Given the description of an element on the screen output the (x, y) to click on. 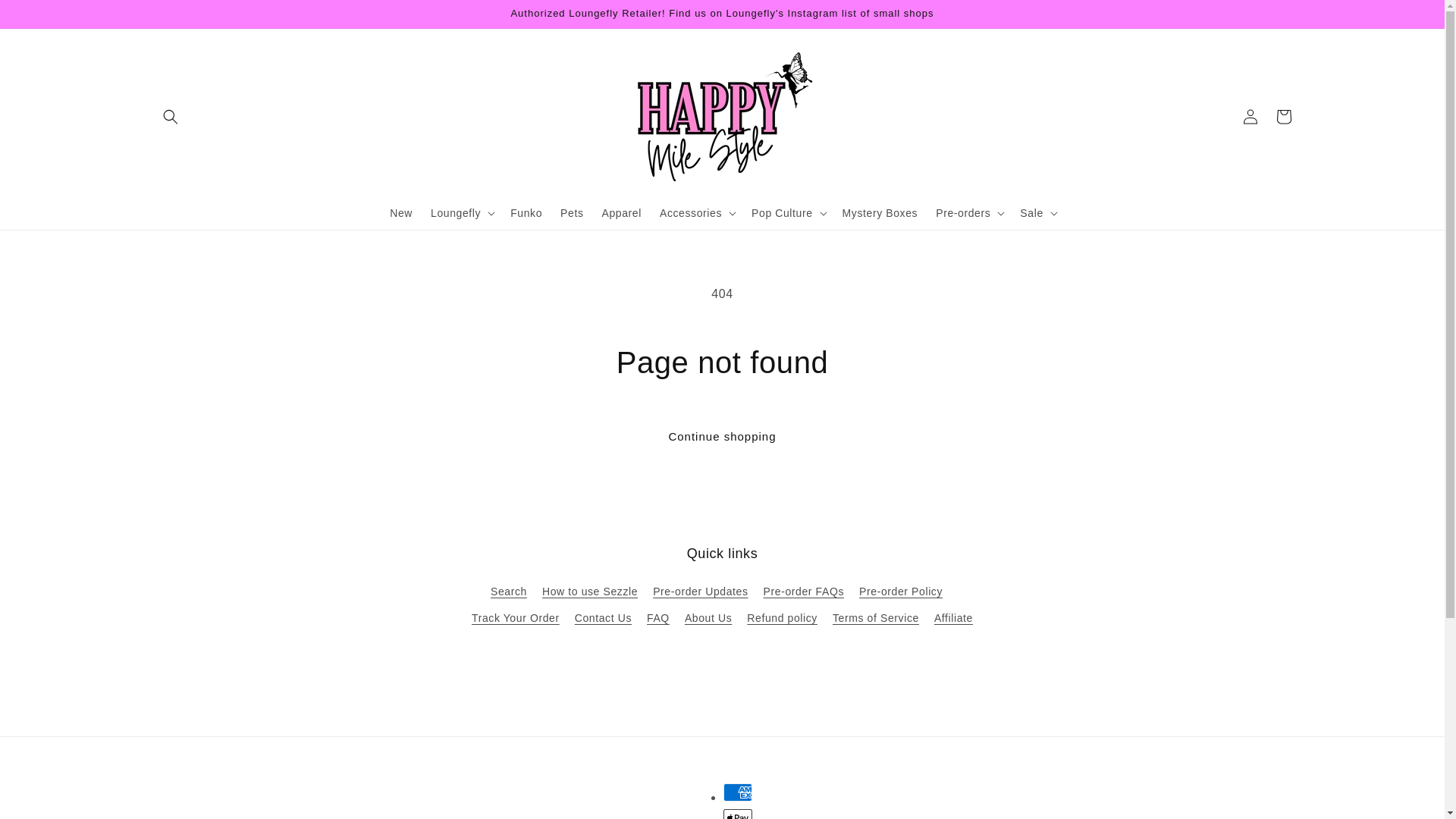
Skip to content (45, 16)
American Express (737, 791)
Apple Pay (737, 814)
